Given the description of an element on the screen output the (x, y) to click on. 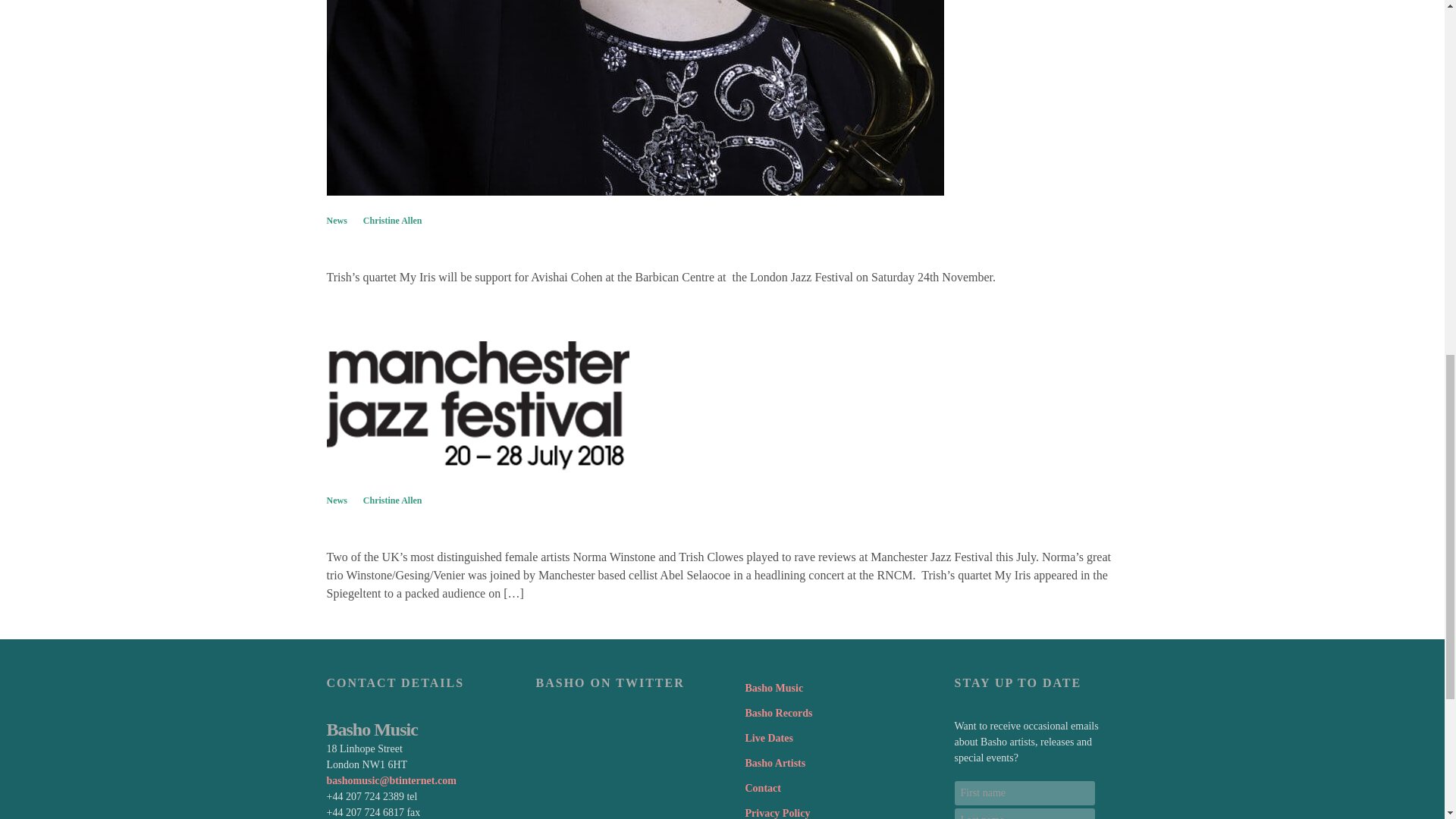
Basho Music (773, 688)
News (336, 499)
News (336, 220)
Privacy Policy (776, 812)
Christine Allen (392, 499)
Basho Records (778, 713)
Basho Artists (774, 763)
Live Dates (768, 738)
Contact (762, 788)
Christine Allen (392, 220)
